Given the description of an element on the screen output the (x, y) to click on. 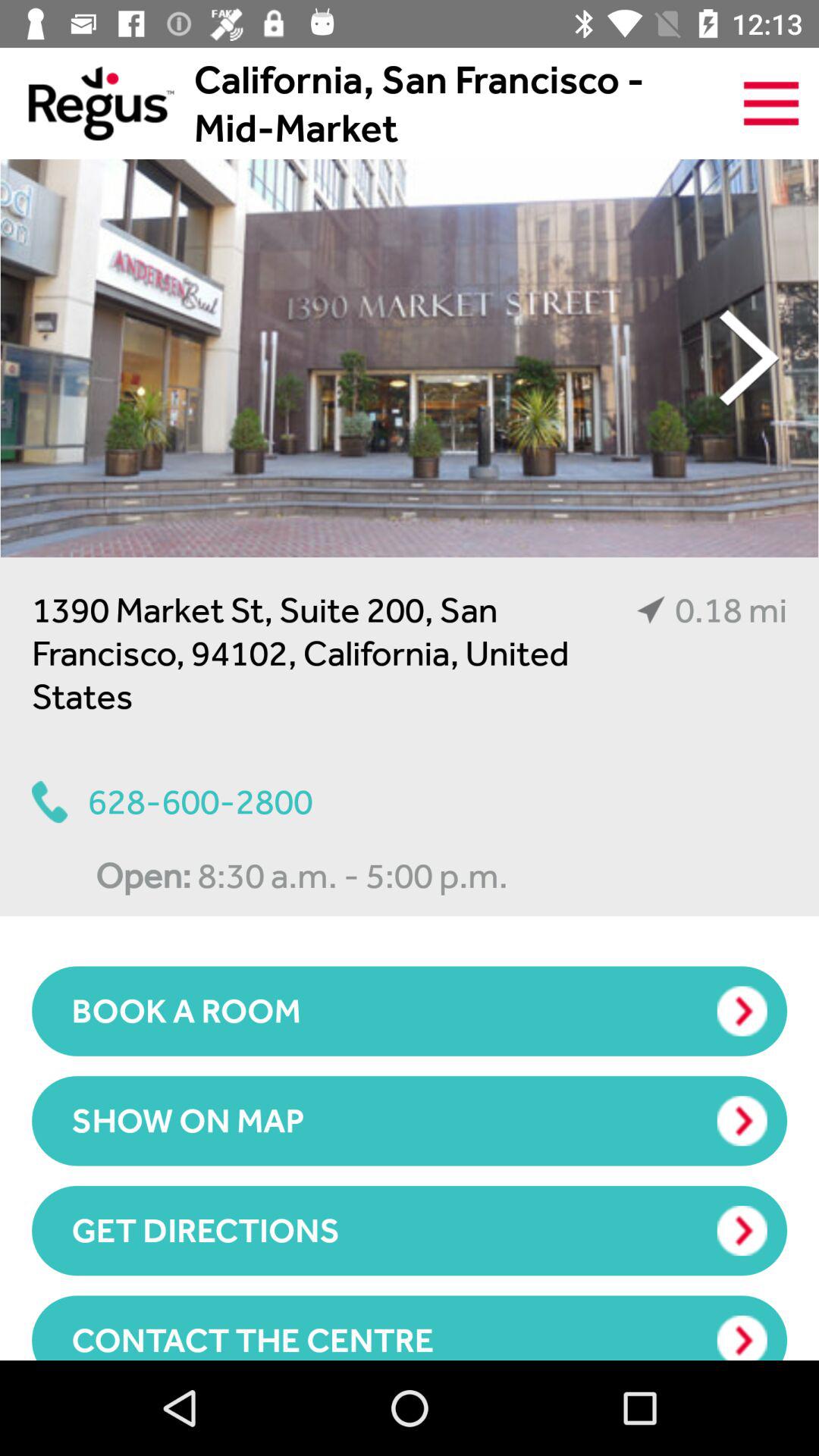
expand picture (409, 358)
